Given the description of an element on the screen output the (x, y) to click on. 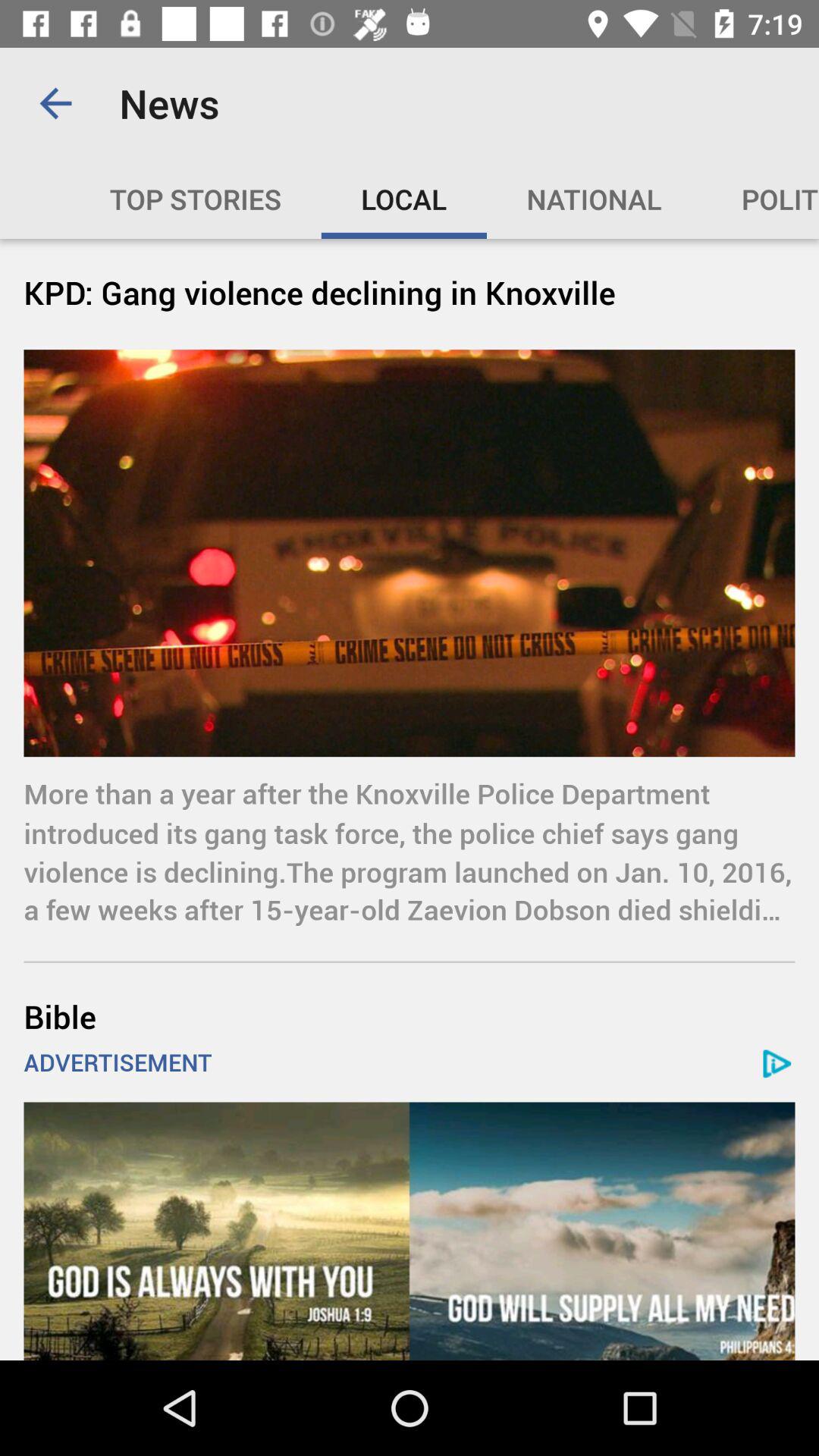
go to advertisement (409, 1231)
